Given the description of an element on the screen output the (x, y) to click on. 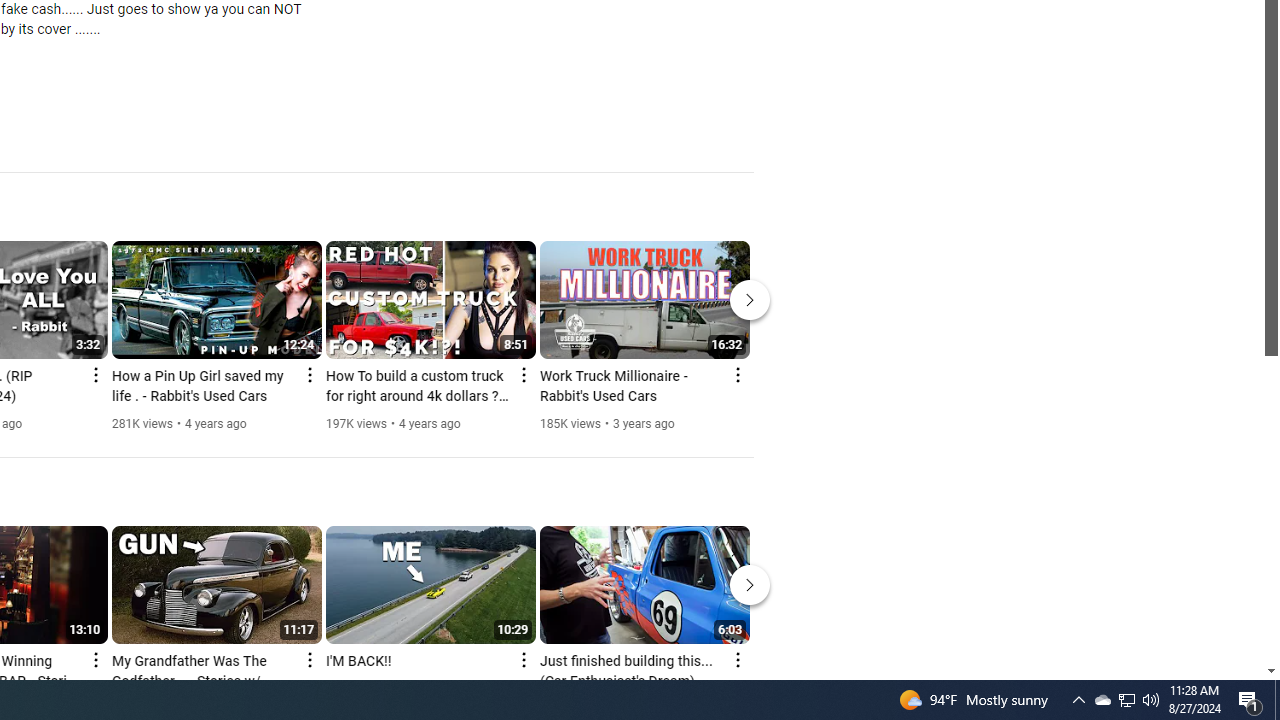
Next (749, 584)
Action menu (736, 659)
